Given the description of an element on the screen output the (x, y) to click on. 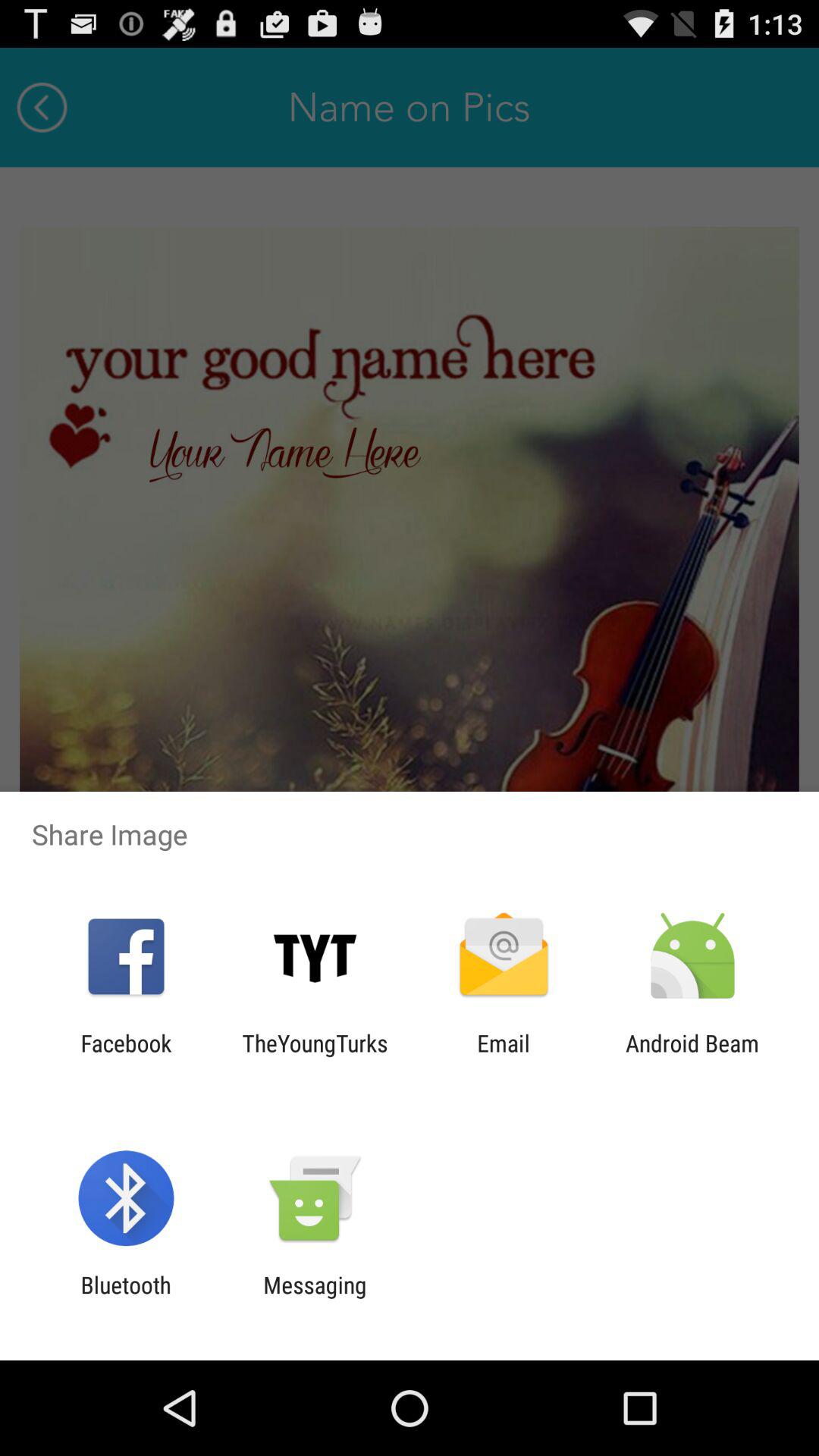
click the app at the bottom right corner (692, 1056)
